Given the description of an element on the screen output the (x, y) to click on. 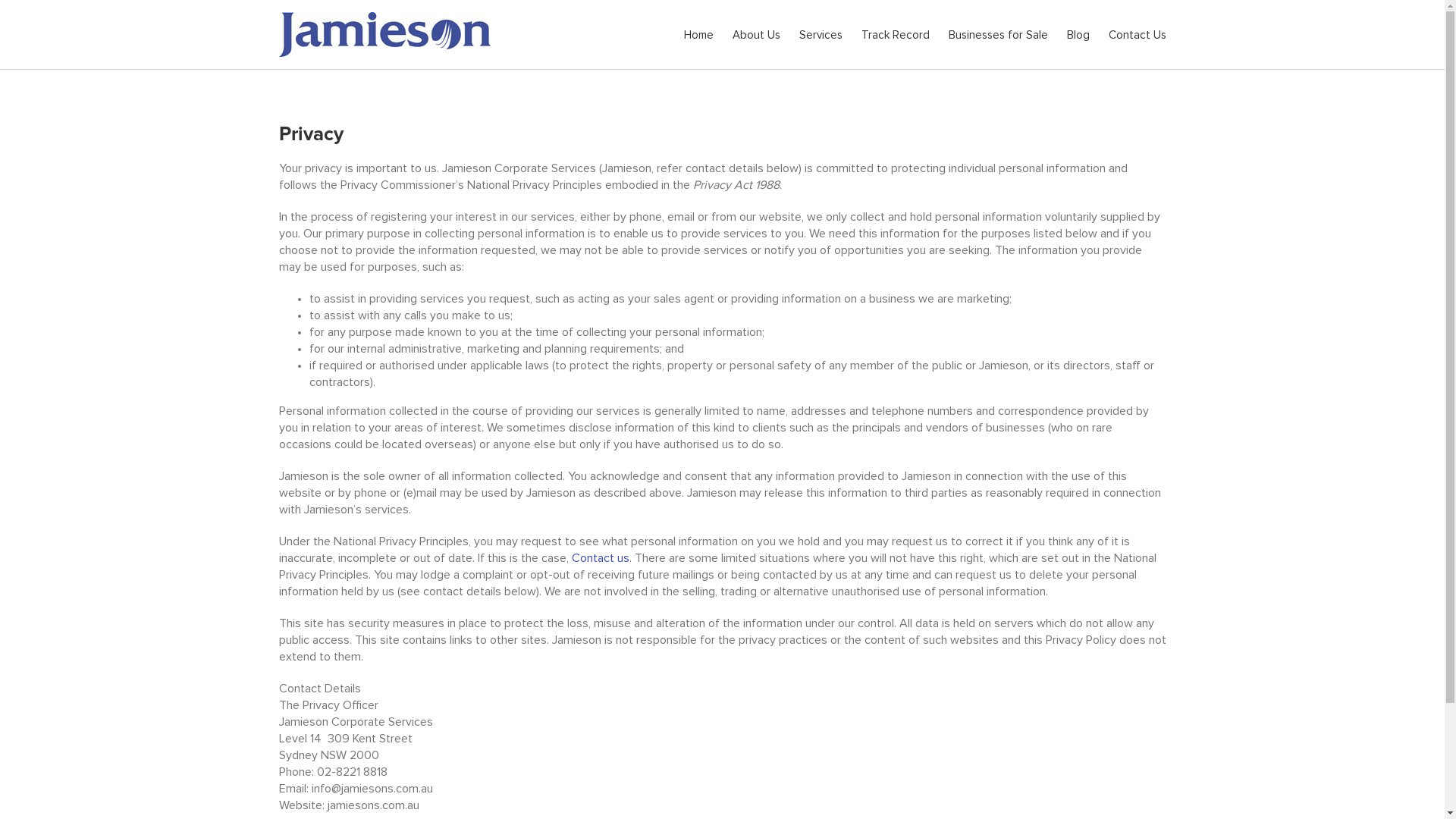
Track Record Element type: text (895, 34)
Contact Us Element type: text (1137, 34)
Blog Element type: text (1077, 34)
Home Element type: text (698, 34)
About Us Element type: text (756, 34)
Businesses for Sale Element type: text (997, 34)
Services Element type: text (820, 34)
Contact us Element type: text (600, 558)
